Given the description of an element on the screen output the (x, y) to click on. 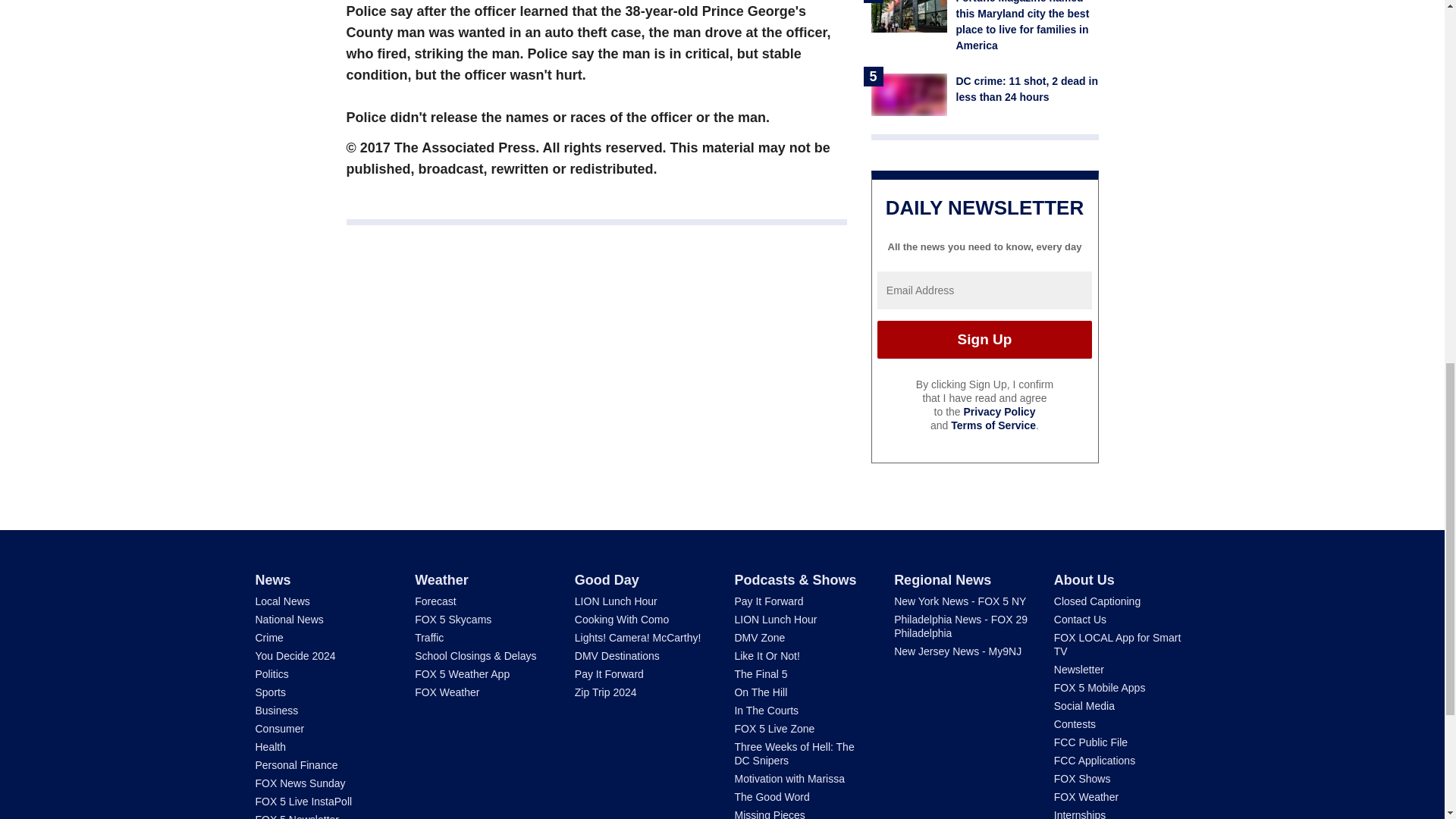
Sign Up (984, 339)
